Given the description of an element on the screen output the (x, y) to click on. 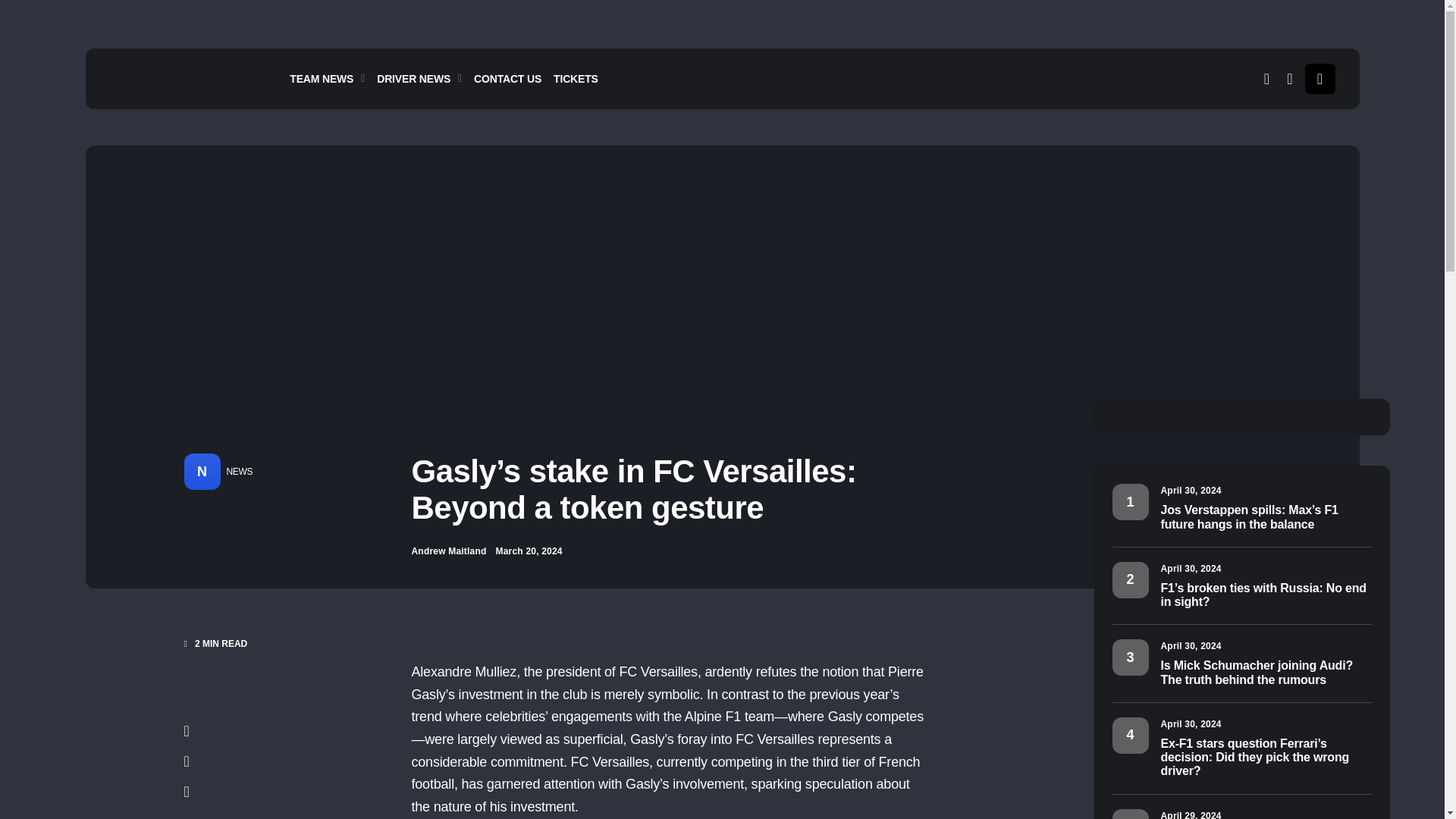
TEAM NEWS (330, 78)
View all posts by Andrew Maitland (448, 550)
